Given the description of an element on the screen output the (x, y) to click on. 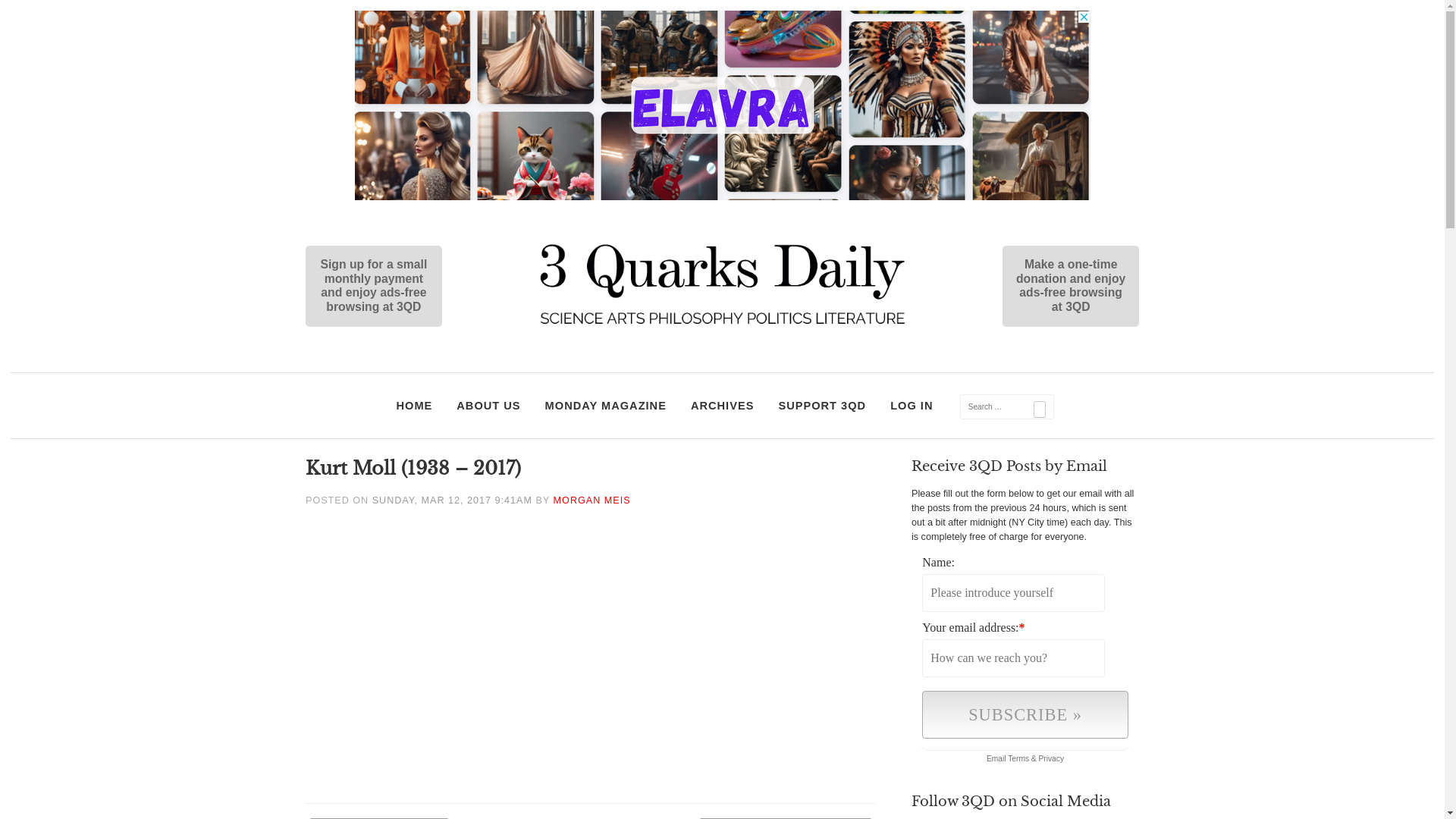
ARCHIVES Element type: text (722, 406)
SUPPORT 3QD Element type: text (821, 406)
MONDAY MAGAZINE Element type: text (605, 406)
HOME Element type: text (414, 406)
Privacy Element type: text (1051, 758)
3 Quarks Daily Element type: hover (721, 325)
ABOUT US Element type: text (488, 406)
LOG IN Element type: text (911, 406)
MORGAN MEIS Element type: text (591, 500)
3rd party ad content Element type: hover (722, 105)
How can we reach you? Element type: hover (1013, 657)
Terms Element type: text (1018, 758)
Make a one-time donation and enjoy ads-free browsing at 3QD Element type: text (1025, 285)
click to join Element type: hover (1024, 713)
Please introduce yourself Element type: hover (1013, 592)
SUNDAY, MAR 12, 2017 9:41AM Element type: text (452, 500)
